Given the description of an element on the screen output the (x, y) to click on. 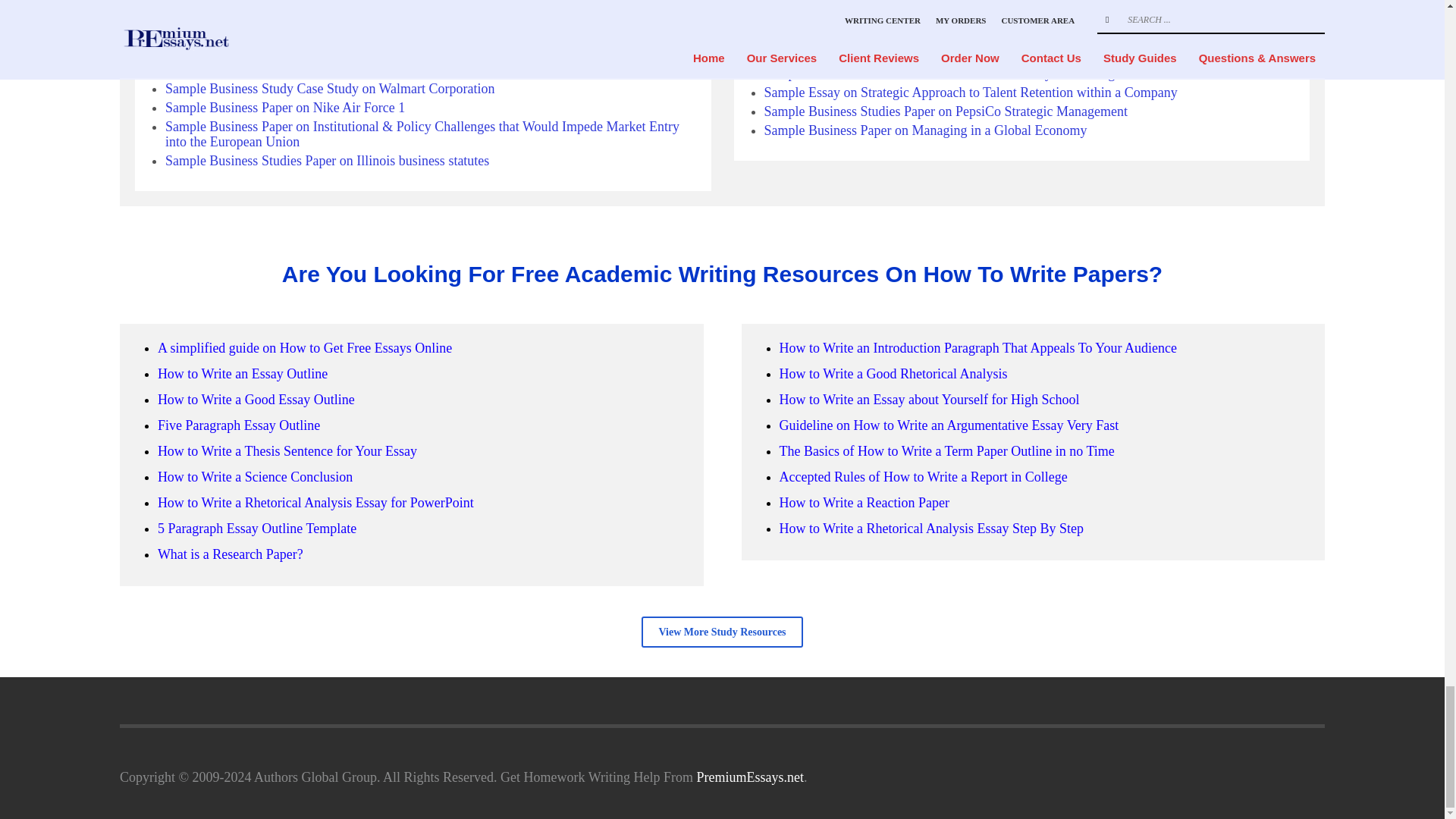
Business Studies Case Study on ProCD, INC. v. ZEIDENBERG (340, 50)
Sample Business Study Case Study on Walmart Corporation (330, 88)
Sample Business Paper on Nike Air Force 1 (284, 107)
Sample Business Studies Paper on A Healthy Lifestyle (314, 69)
